Given the description of an element on the screen output the (x, y) to click on. 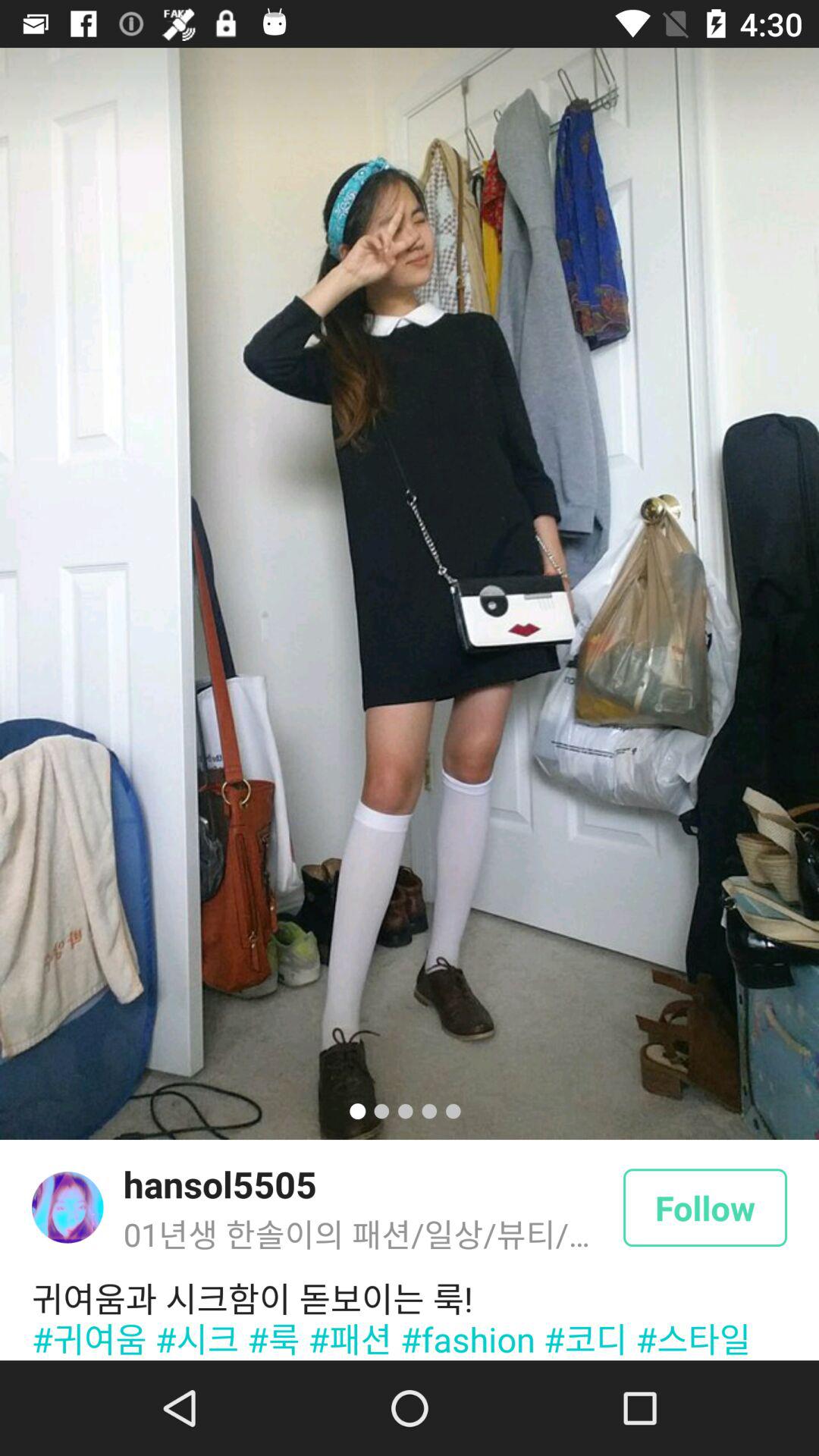
jump until hansol5505 (219, 1183)
